Given the description of an element on the screen output the (x, y) to click on. 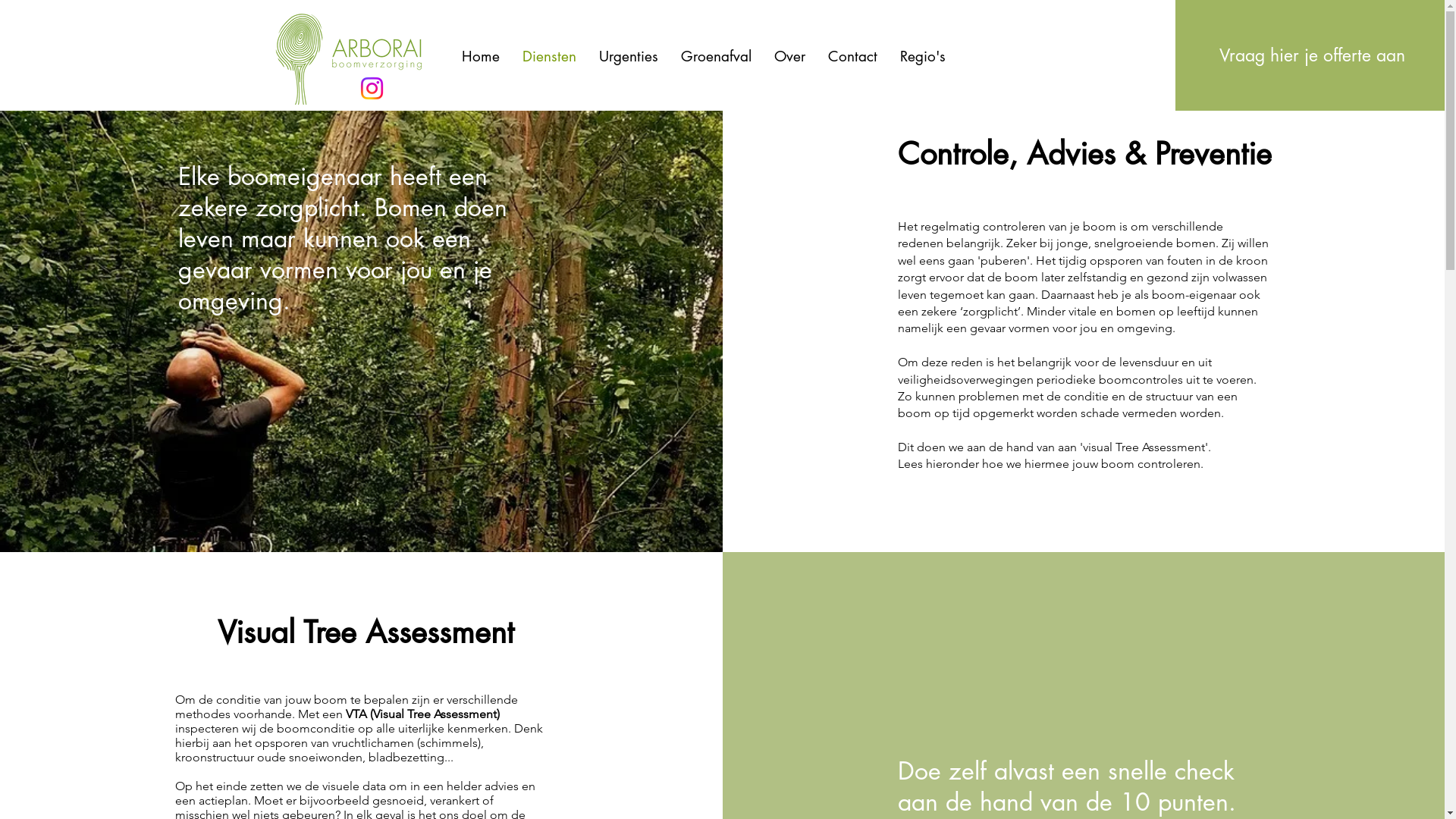
Home Element type: text (480, 56)
Over Element type: text (789, 56)
Urgenties Element type: text (627, 56)
Contact Element type: text (851, 56)
Groenafval Element type: text (715, 56)
Vraag hier je offerte aan Element type: text (1311, 55)
Diensten Element type: text (549, 56)
